Given the description of an element on the screen output the (x, y) to click on. 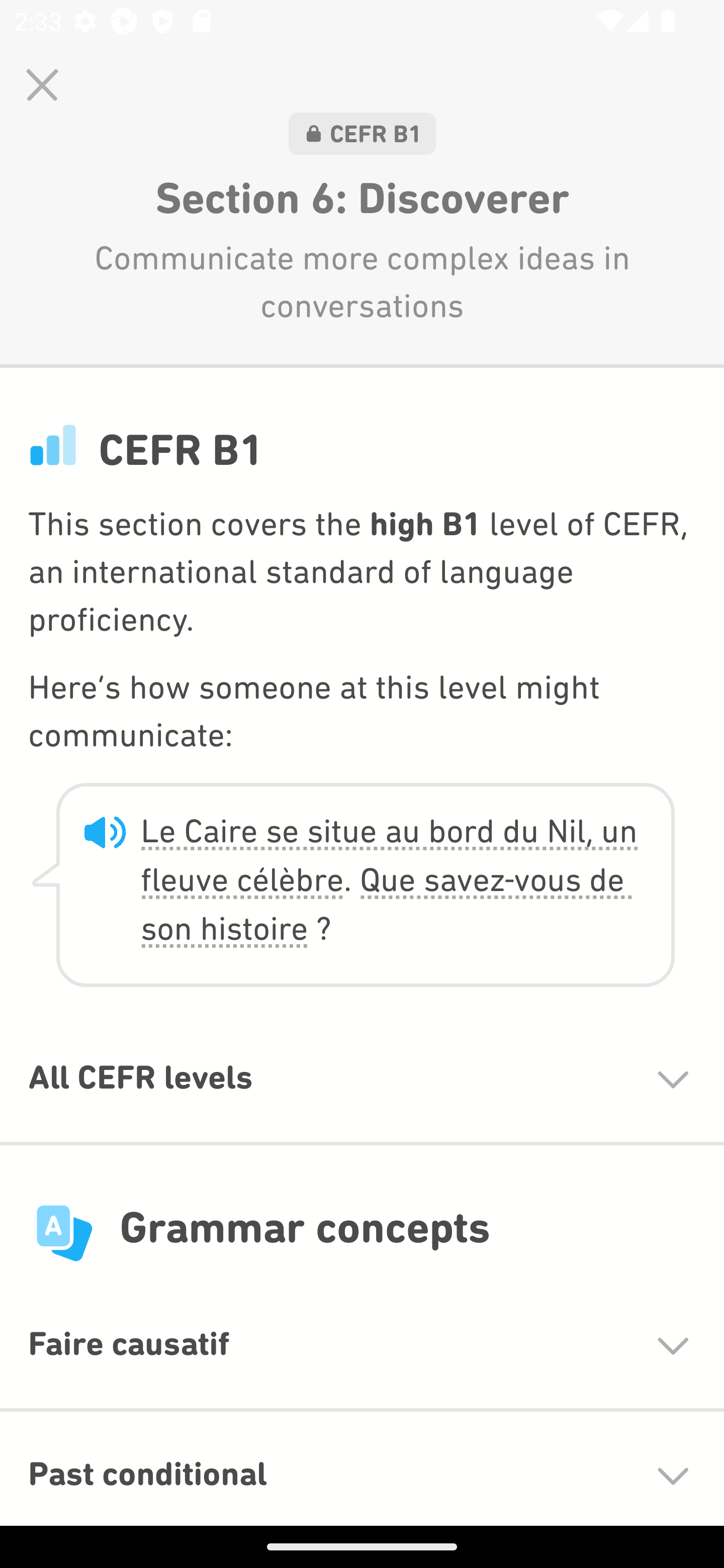
Close Page (41, 84)
All CEFR levels (362, 1098)
Faire causatif (362, 1344)
Past conditional (362, 1468)
